Given the description of an element on the screen output the (x, y) to click on. 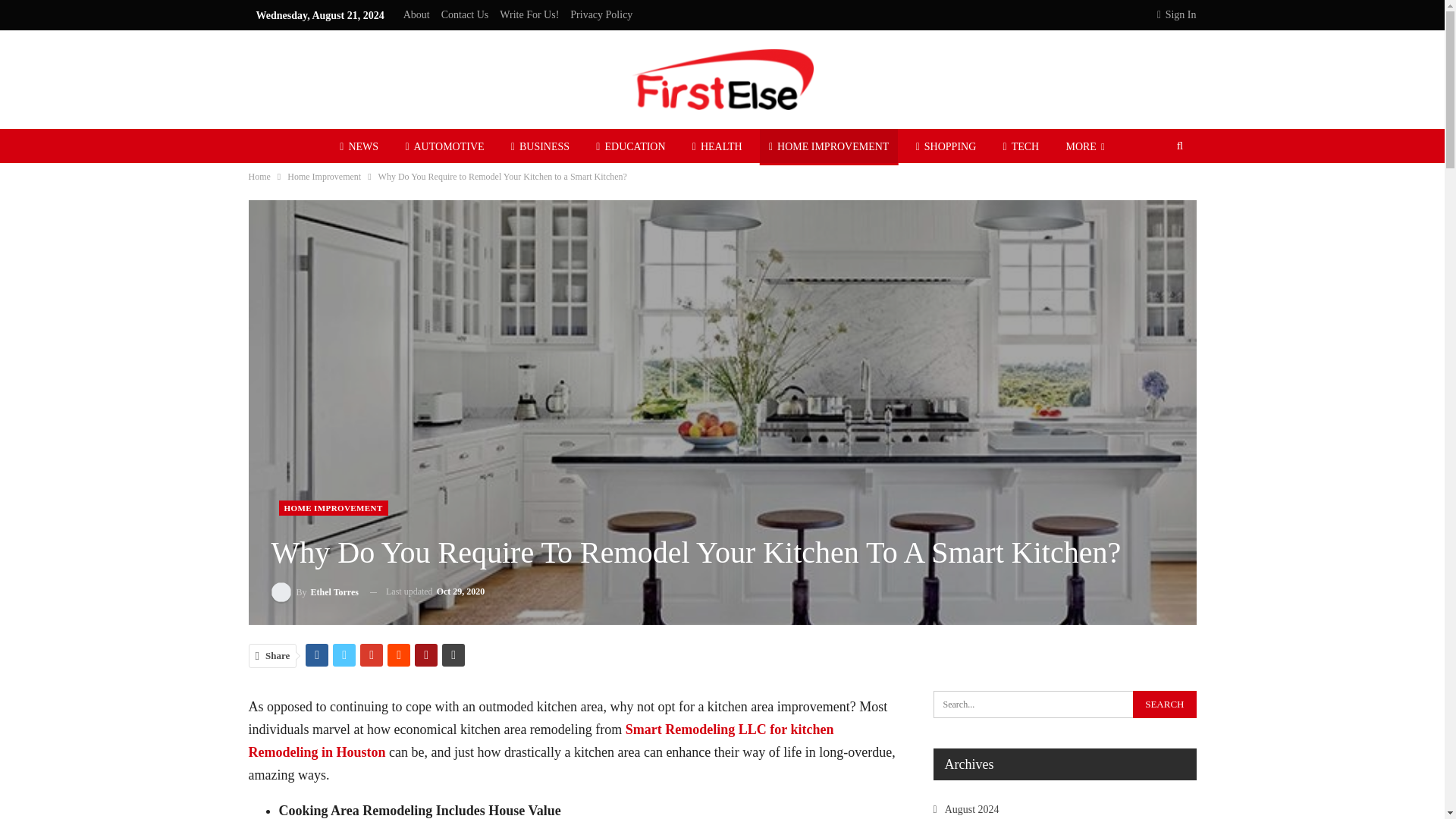
HOME IMPROVEMENT (333, 507)
Contact Us (465, 14)
Write For Us! (529, 14)
AUTOMOTIVE (444, 146)
Sign In (1176, 15)
HOME IMPROVEMENT (829, 146)
Home Improvement (323, 176)
About (416, 14)
Privacy Policy (600, 14)
Search for: (1064, 704)
